Given the description of an element on the screen output the (x, y) to click on. 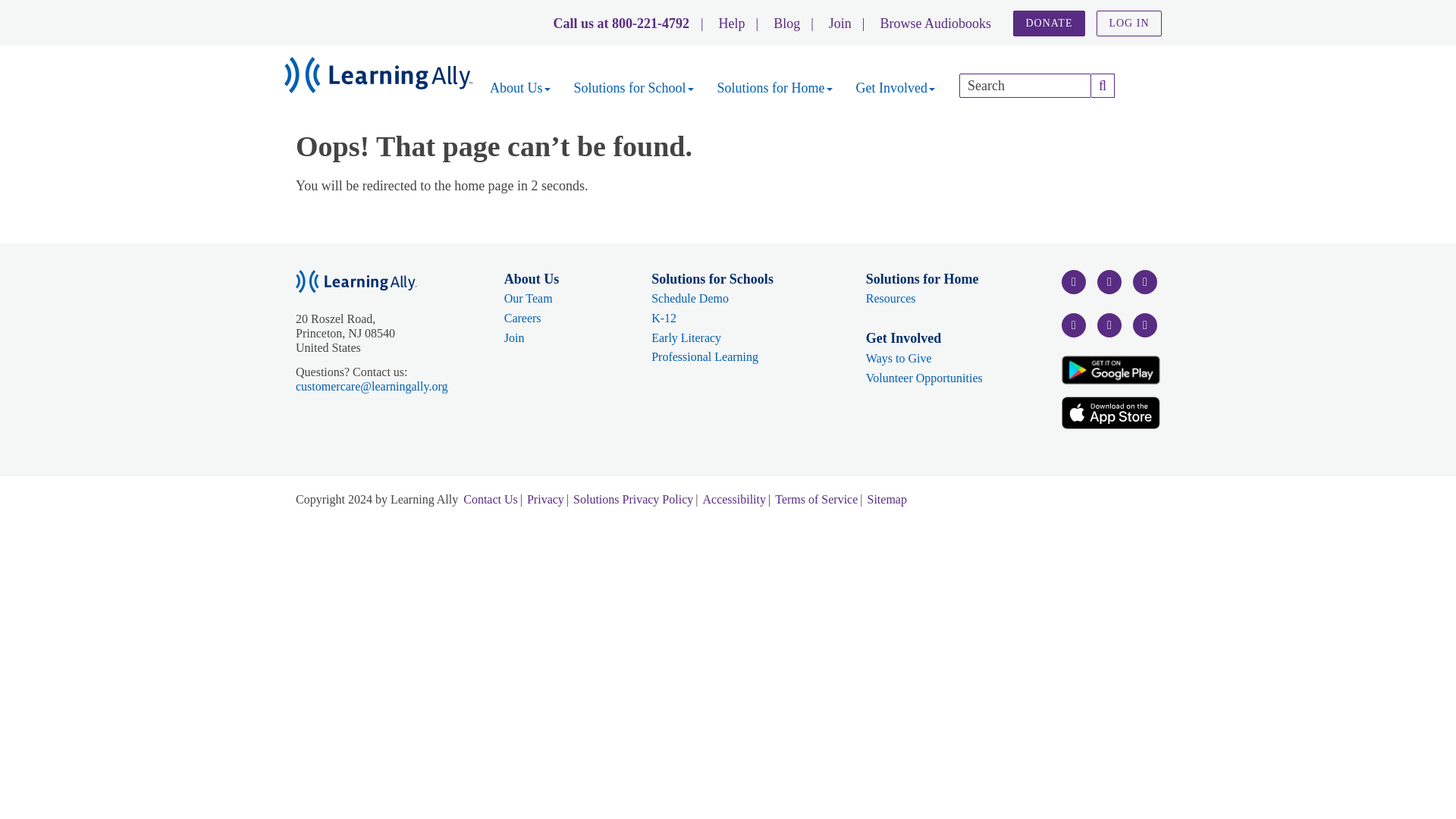
Solutions for School (633, 87)
LOG IN (1128, 23)
Browse Audiobooks (935, 23)
Join (839, 23)
About Us (519, 87)
Help (732, 23)
Solutions for Home (774, 87)
Blog (786, 23)
DONATE (1048, 23)
Get Involved (895, 87)
